Given the description of an element on the screen output the (x, y) to click on. 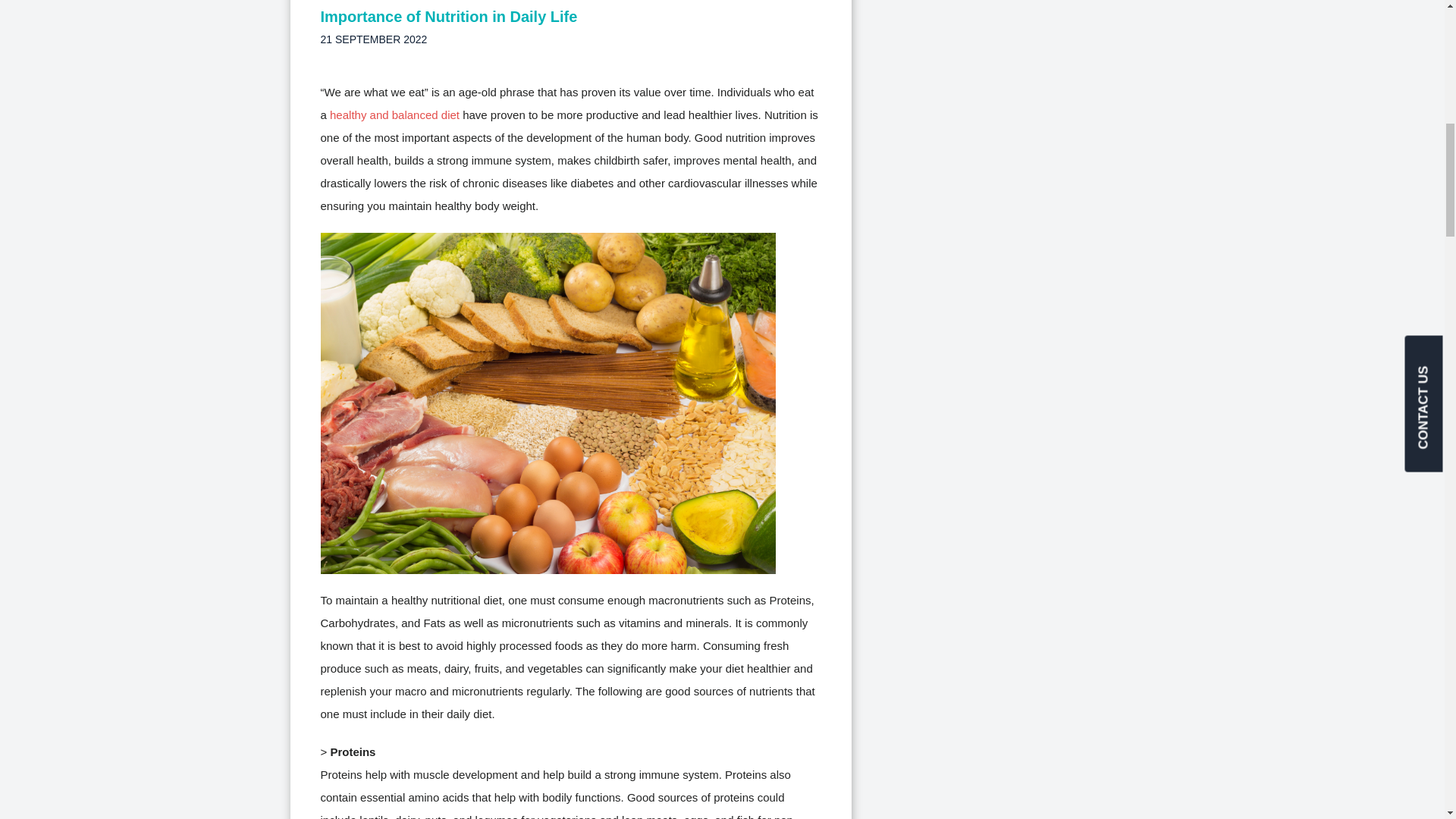
Importance of Nutrition in Daily Life (448, 15)
healthy and balanced diet (395, 113)
